Given the description of an element on the screen output the (x, y) to click on. 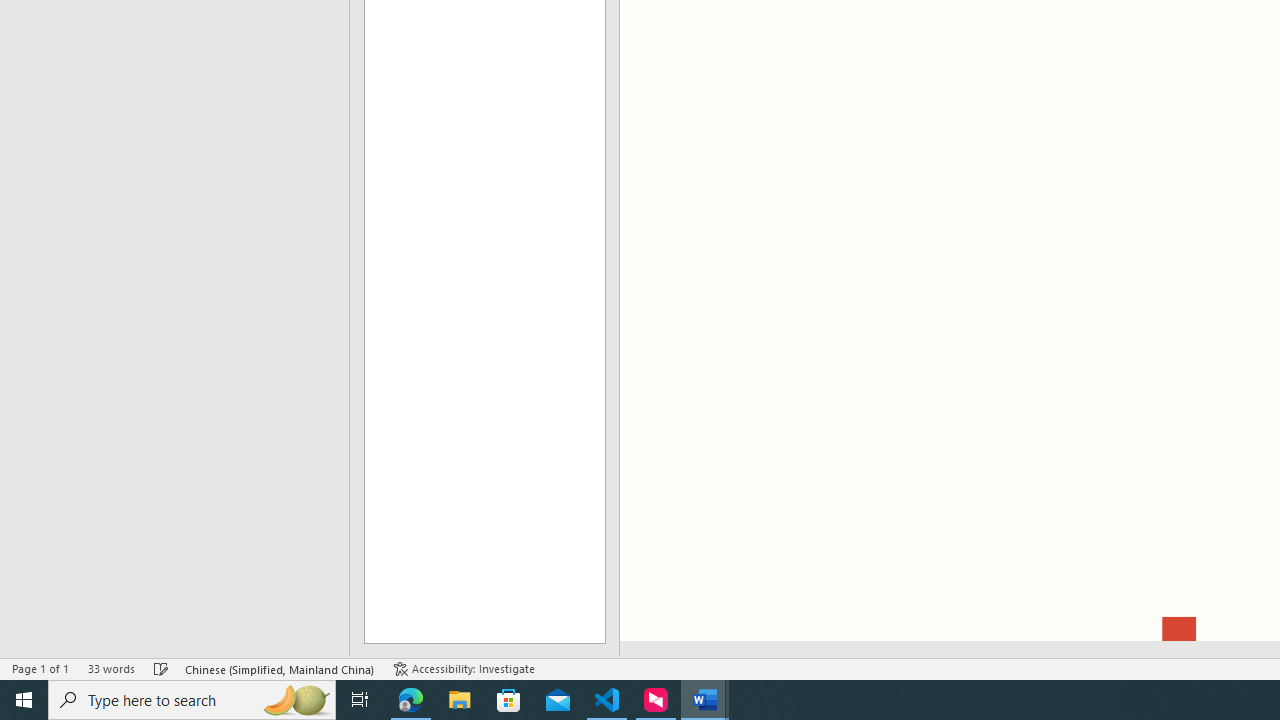
Page Number Page 1 of 1 (39, 668)
